Given the description of an element on the screen output the (x, y) to click on. 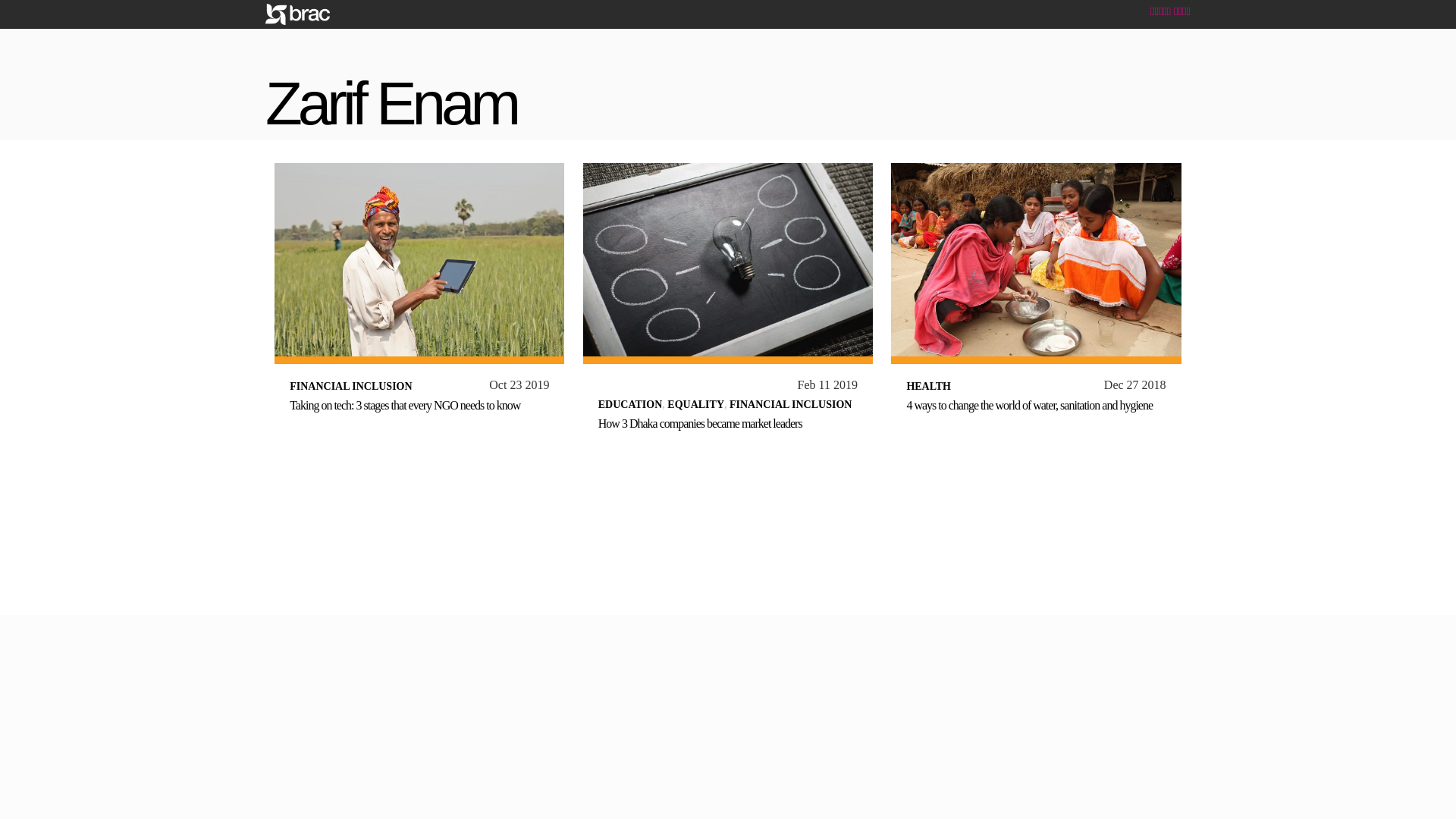
How 3 Dhaka companies became market leaders (700, 422)
FINANCIAL INCLUSION (350, 386)
EDUCATION (630, 404)
Taking on tech: 3 stages that every NGO needs to know (404, 404)
EQUALITY (694, 404)
FINANCIAL INCLUSION (790, 404)
